Given the description of an element on the screen output the (x, y) to click on. 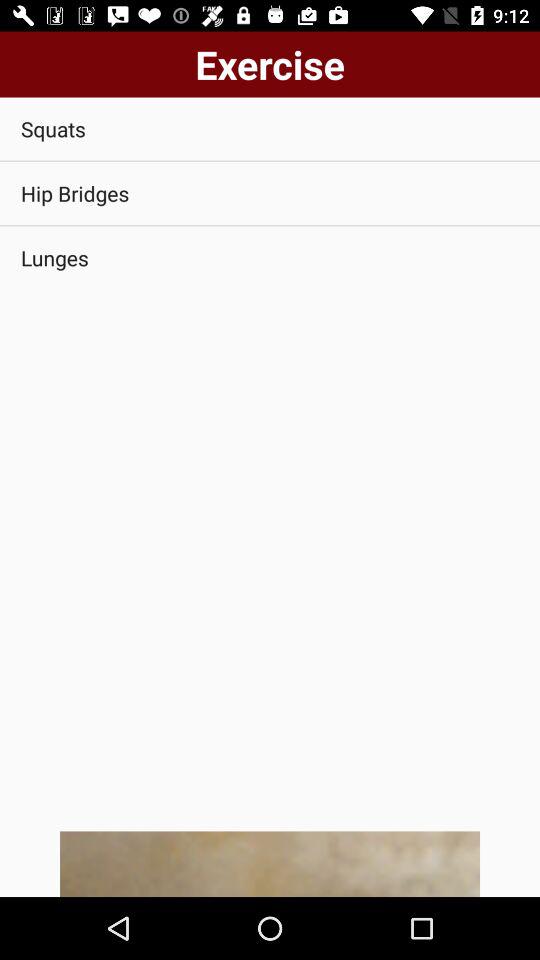
flip to the lunges app (270, 257)
